Given the description of an element on the screen output the (x, y) to click on. 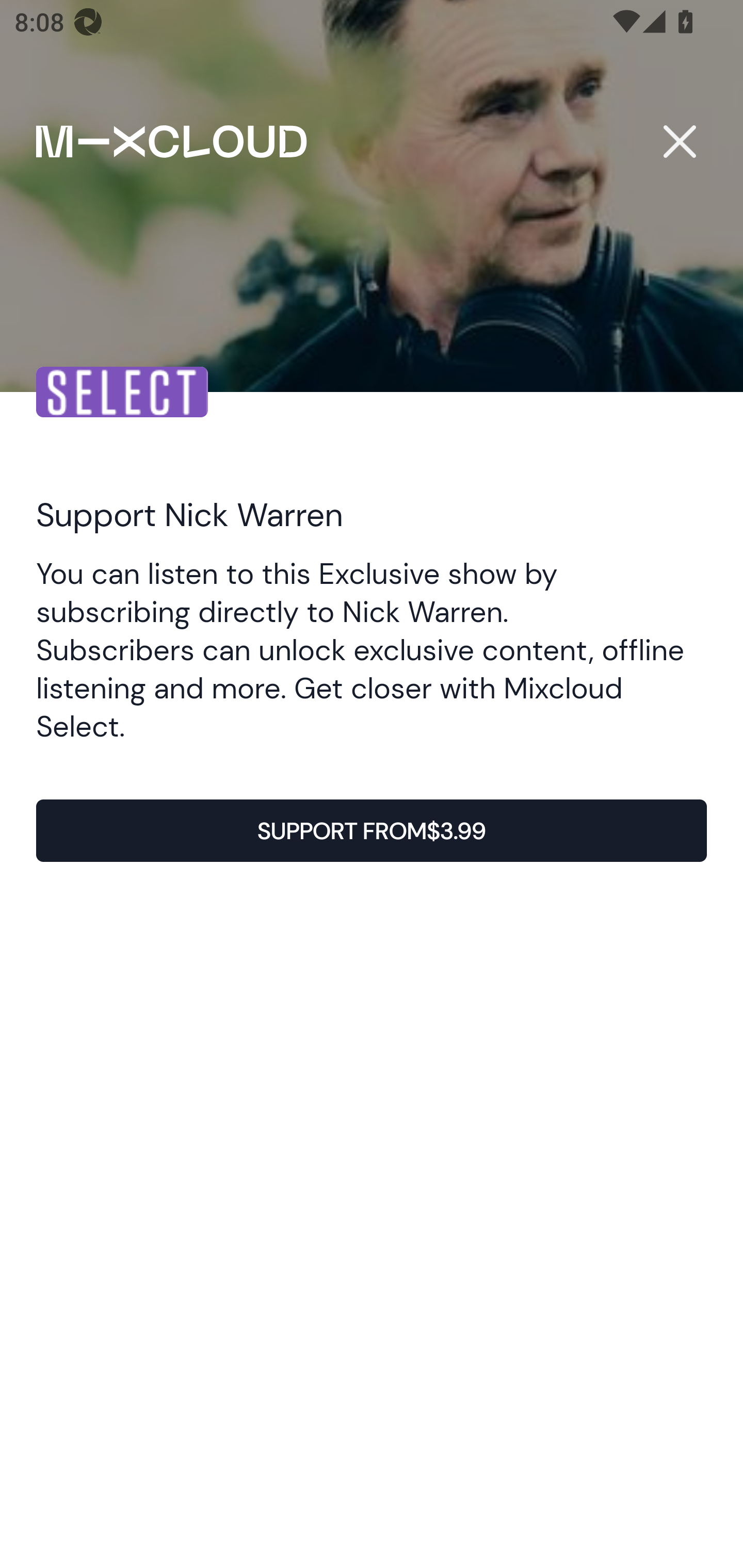
Close popup button (679, 141)
SUPPORT FROM$3.99 (371, 830)
Progressive House (417, 901)
